Given the description of an element on the screen output the (x, y) to click on. 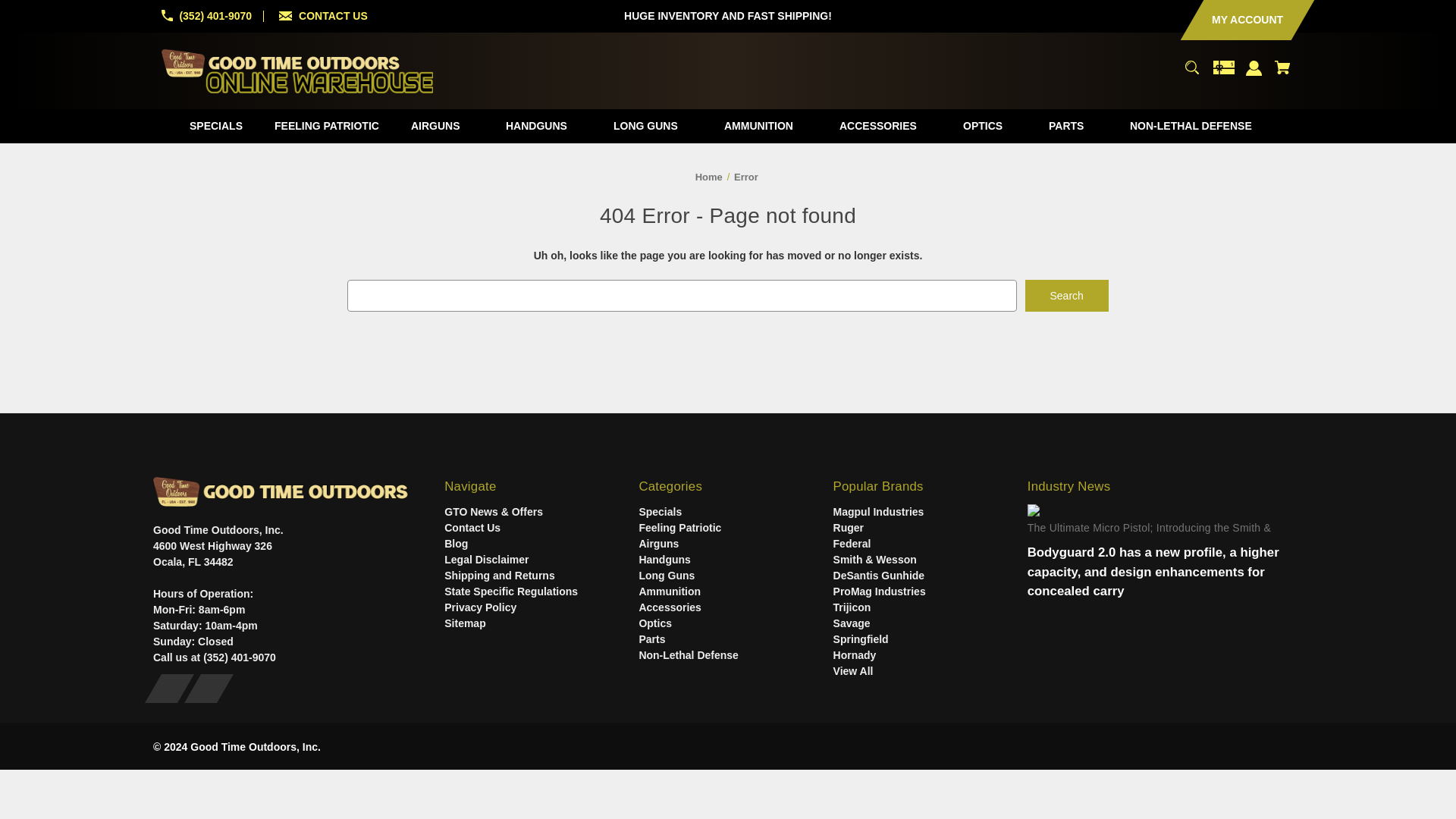
MAGNIFYING GLASS IMAGE LARGE RED CIRCLE WITH A BLACK BORDER (1191, 67)
Search (1066, 296)
GIFT CARD IMAGE LARGE SQUARE BLACK IMAGE WITH A BOW ONTOP (1223, 67)
CONTACT US (333, 15)
MY ACCOUNT (1235, 20)
